Given the description of an element on the screen output the (x, y) to click on. 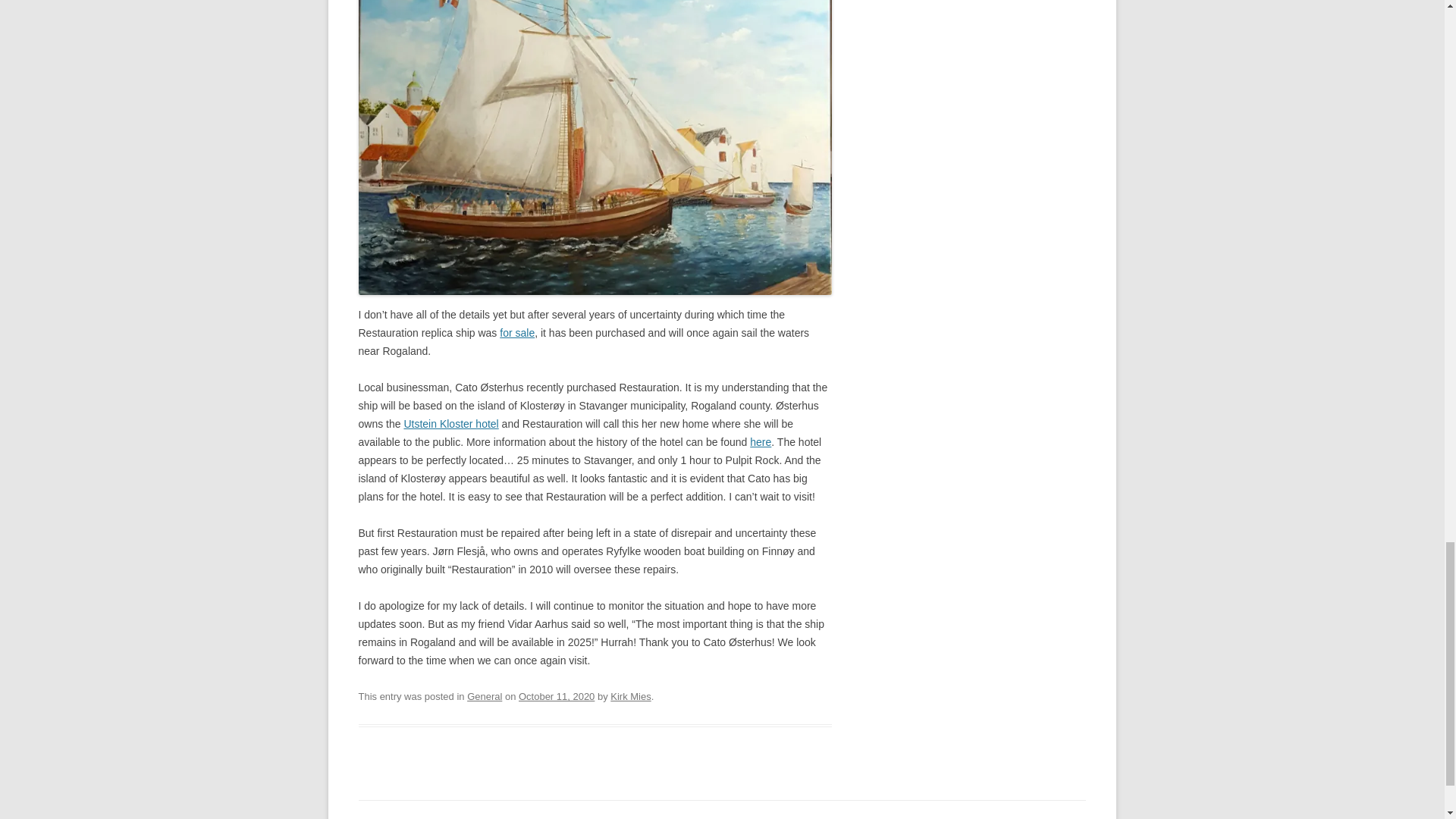
View all posts by Kirk Mies (630, 696)
General (484, 696)
here (760, 441)
Utstein Kloster hotel (450, 423)
Kirk Mies (630, 696)
for sale (516, 332)
October 11, 2020 (556, 696)
10:20 am (556, 696)
